Given the description of an element on the screen output the (x, y) to click on. 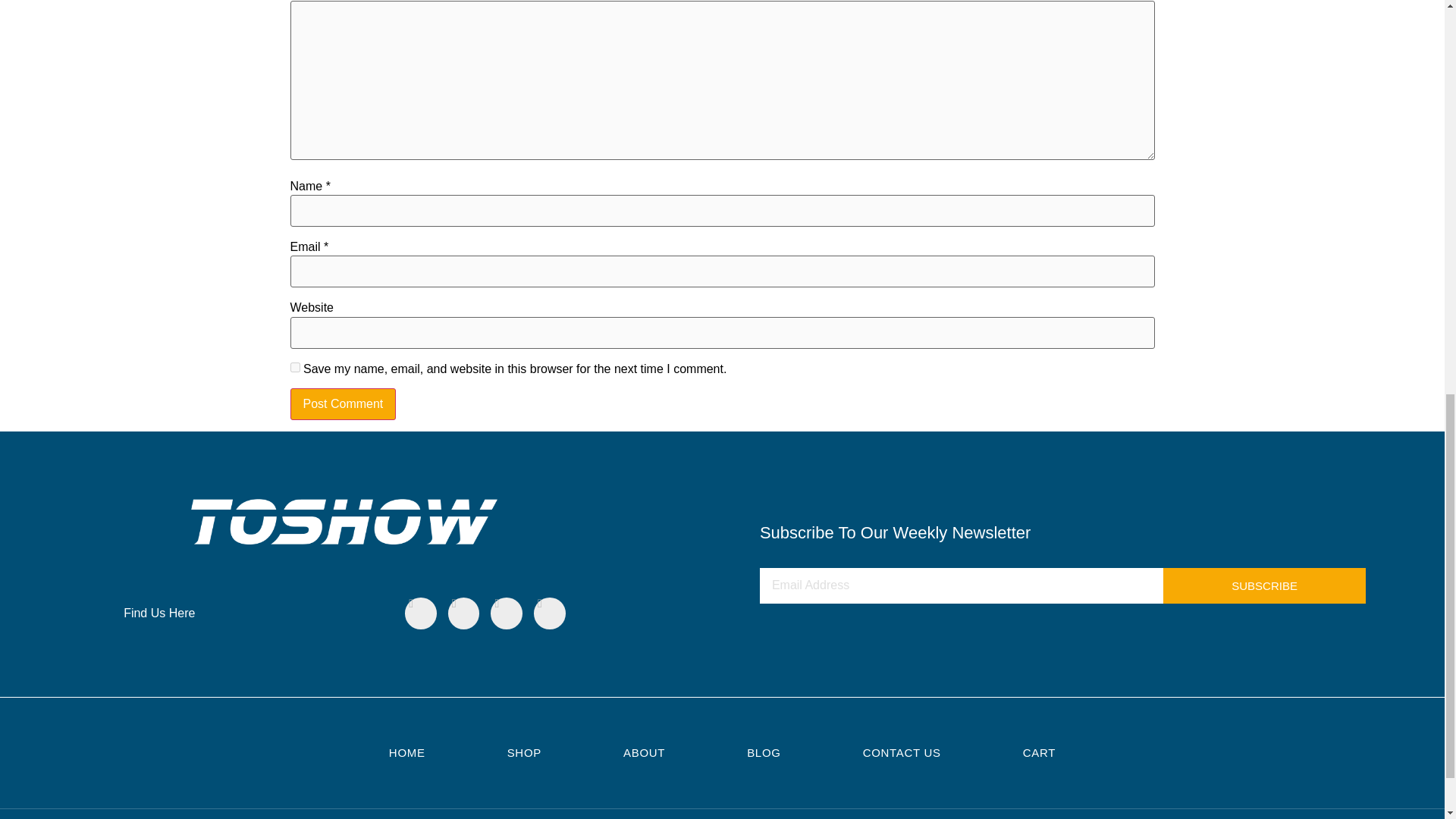
Post Comment (342, 404)
yes (294, 367)
